Given the description of an element on the screen output the (x, y) to click on. 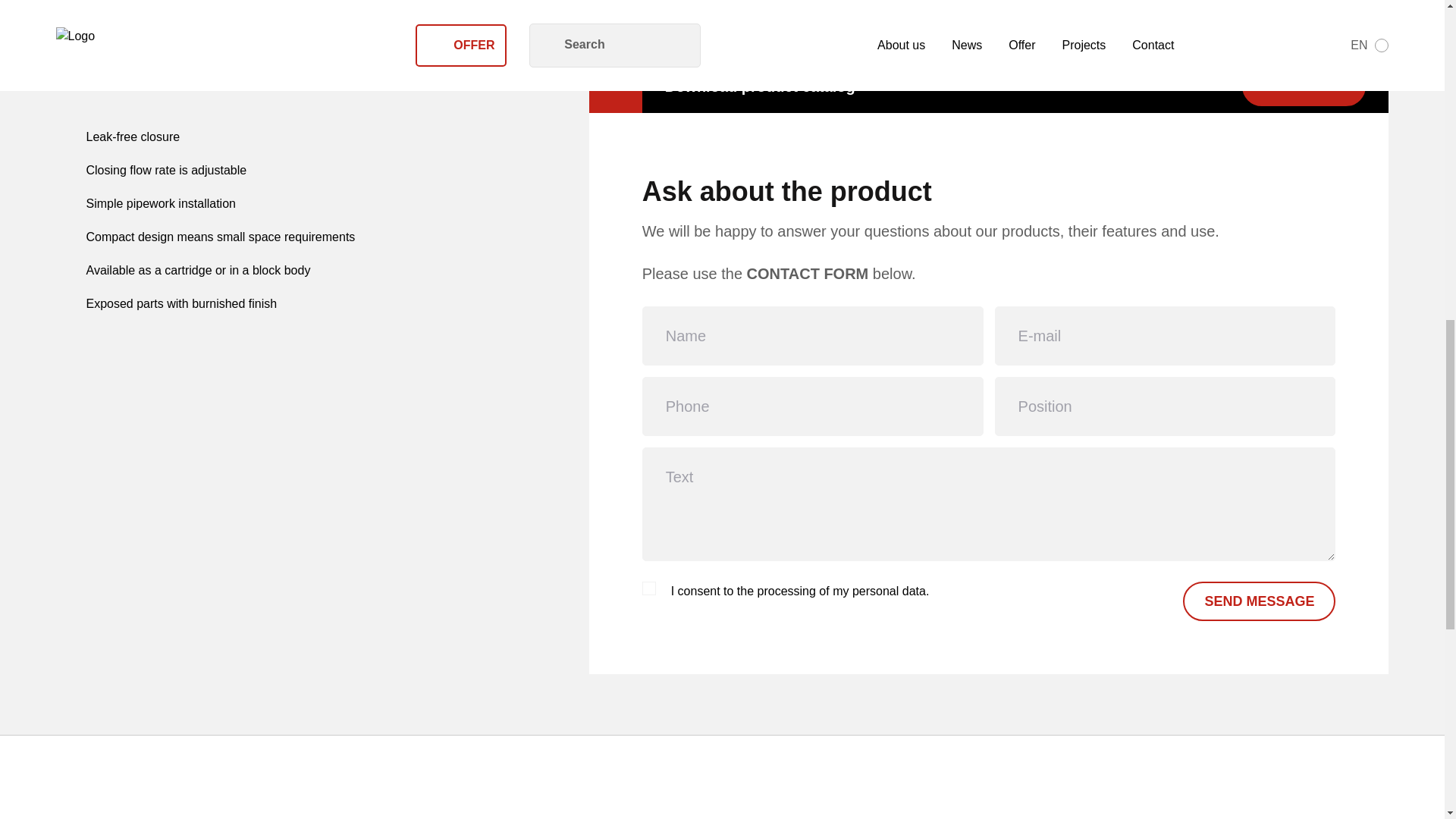
1 (649, 588)
